Given the description of an element on the screen output the (x, y) to click on. 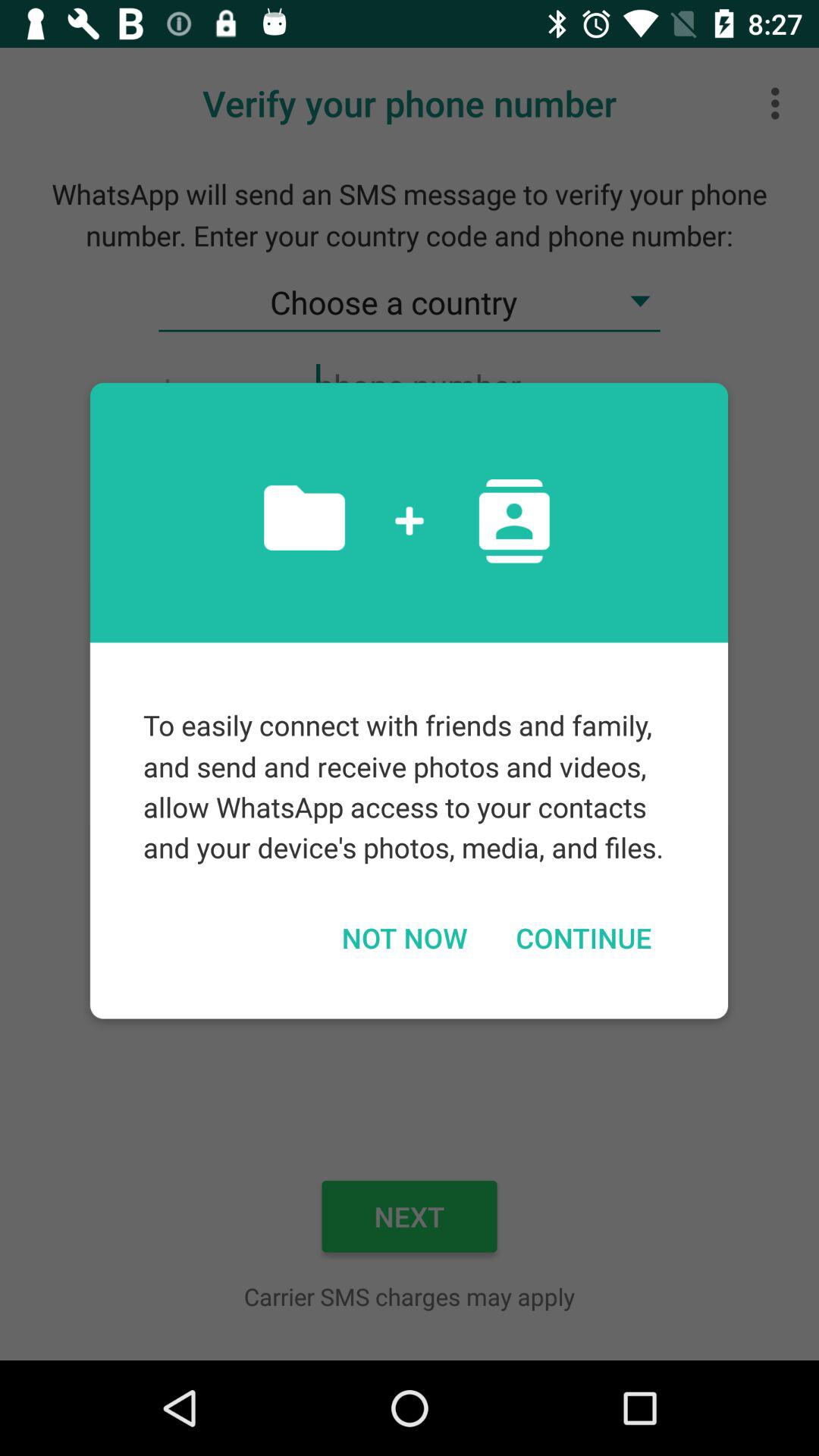
click item below to easily connect (583, 937)
